Given the description of an element on the screen output the (x, y) to click on. 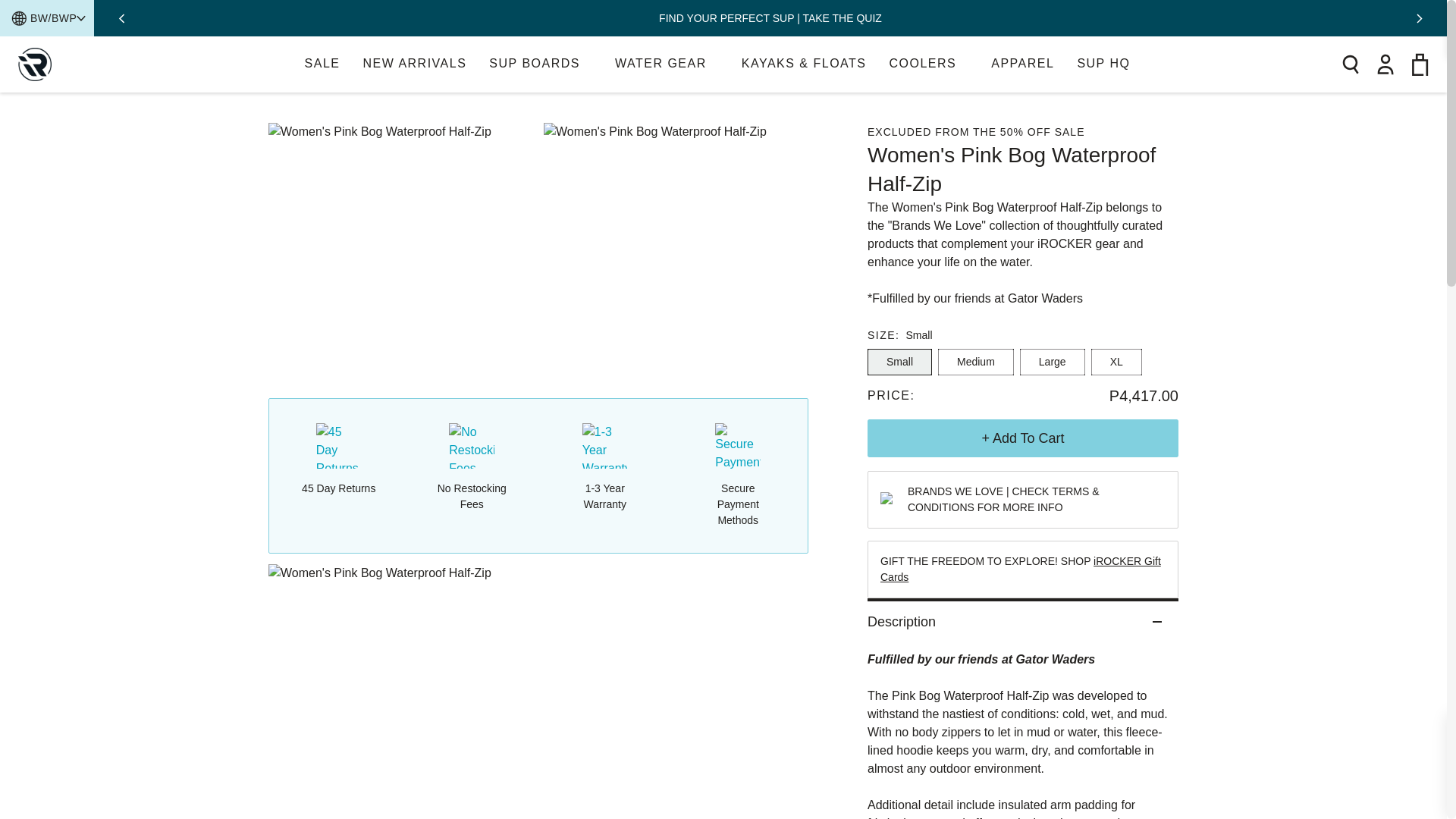
Coolers (928, 63)
 Sale (322, 63)
SUP Boards (322, 63)
Medium (540, 63)
Large (413, 63)
Small (540, 63)
XL (975, 361)
APPAREL  (1052, 361)
Water Gear (899, 361)
NEW ARRIVALS (1115, 361)
iROCKER US (1022, 63)
SUP HQ (666, 63)
